Given the description of an element on the screen output the (x, y) to click on. 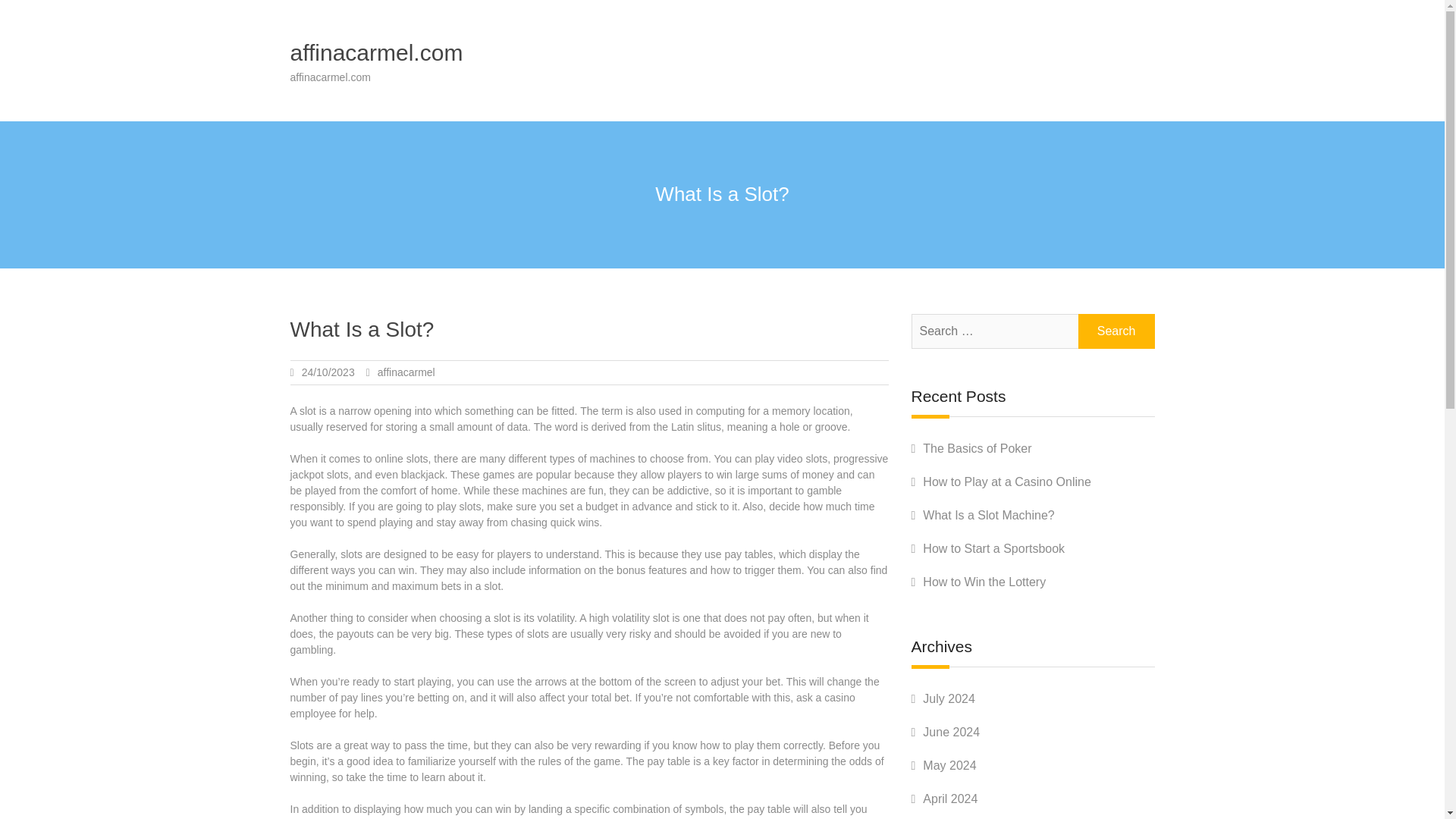
How to Start a Sportsbook (993, 548)
How to Win the Lottery (984, 581)
How to Play at a Casino Online (1006, 481)
The Basics of Poker (976, 448)
July 2024 (949, 698)
April 2024 (949, 798)
Search (1116, 330)
May 2024 (949, 765)
Search (1116, 330)
What Is a Slot Machine? (988, 514)
affinacarmel.com (376, 52)
June 2024 (951, 731)
Search (1116, 330)
affinacarmel (406, 372)
